Given the description of an element on the screen output the (x, y) to click on. 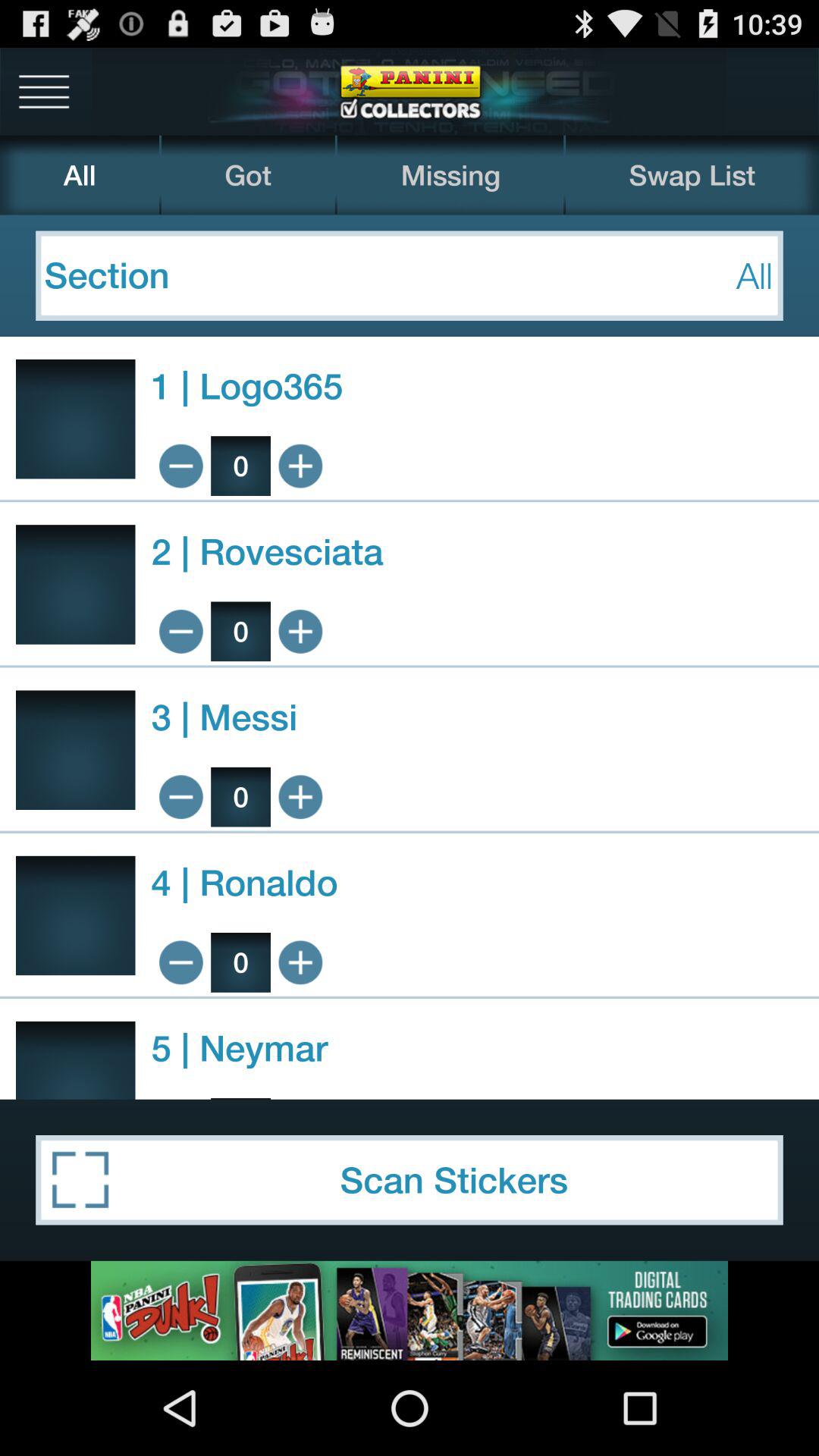
add rovesciata to shopping cart (300, 631)
